Given the description of an element on the screen output the (x, y) to click on. 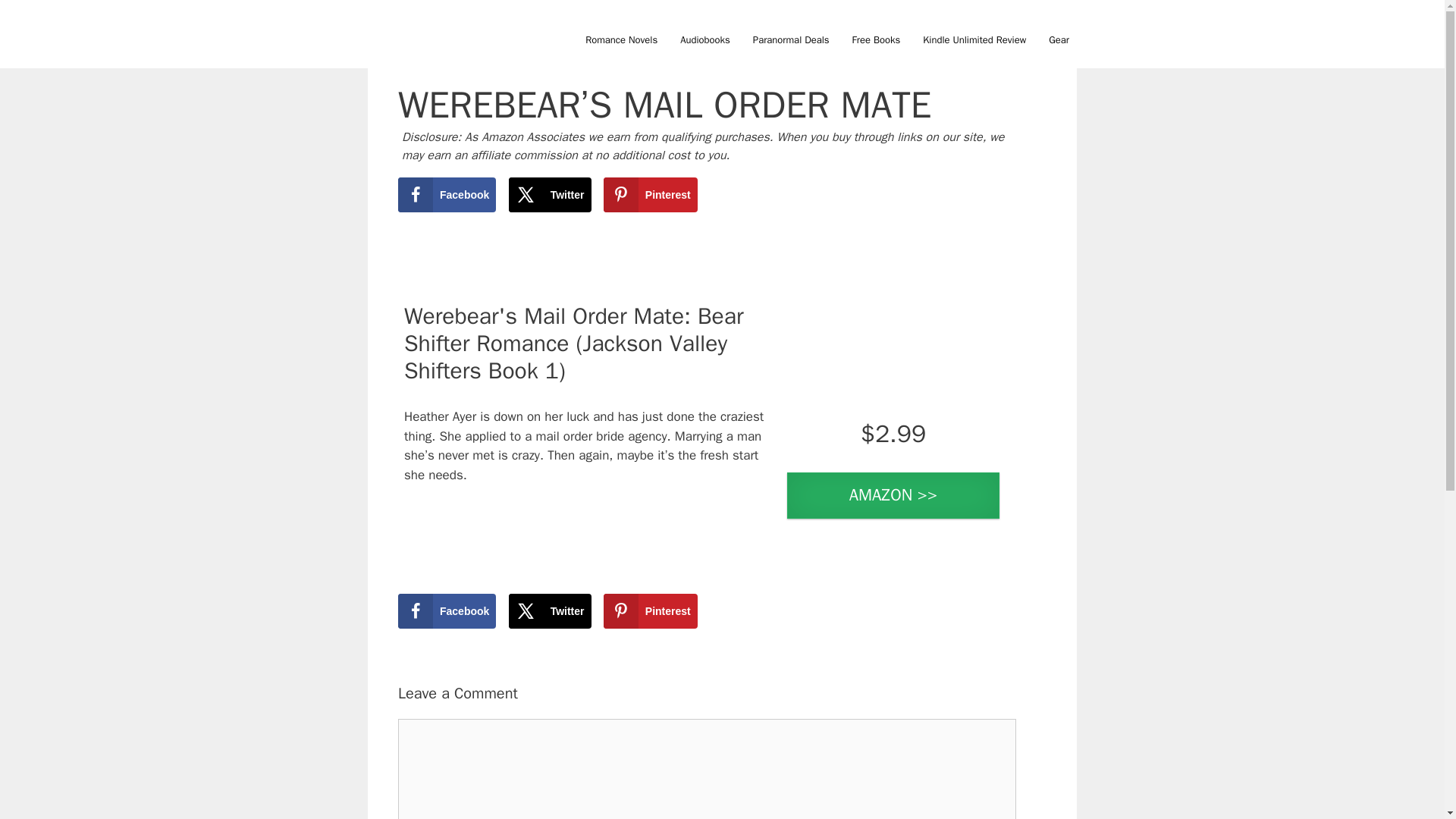
Share on Facebook (446, 610)
Facebook (446, 194)
Audiobooks (704, 39)
Twitter (549, 194)
Pinterest (650, 610)
Share on Facebook (446, 194)
Facebook (446, 610)
Romance Novels (620, 39)
Kindle Unlimited Review (973, 39)
Share on X (549, 194)
Twitter (549, 610)
Free Books (876, 39)
Pinterest (650, 194)
Save to Pinterest (650, 610)
Paranormal Deals (791, 39)
